Given the description of an element on the screen output the (x, y) to click on. 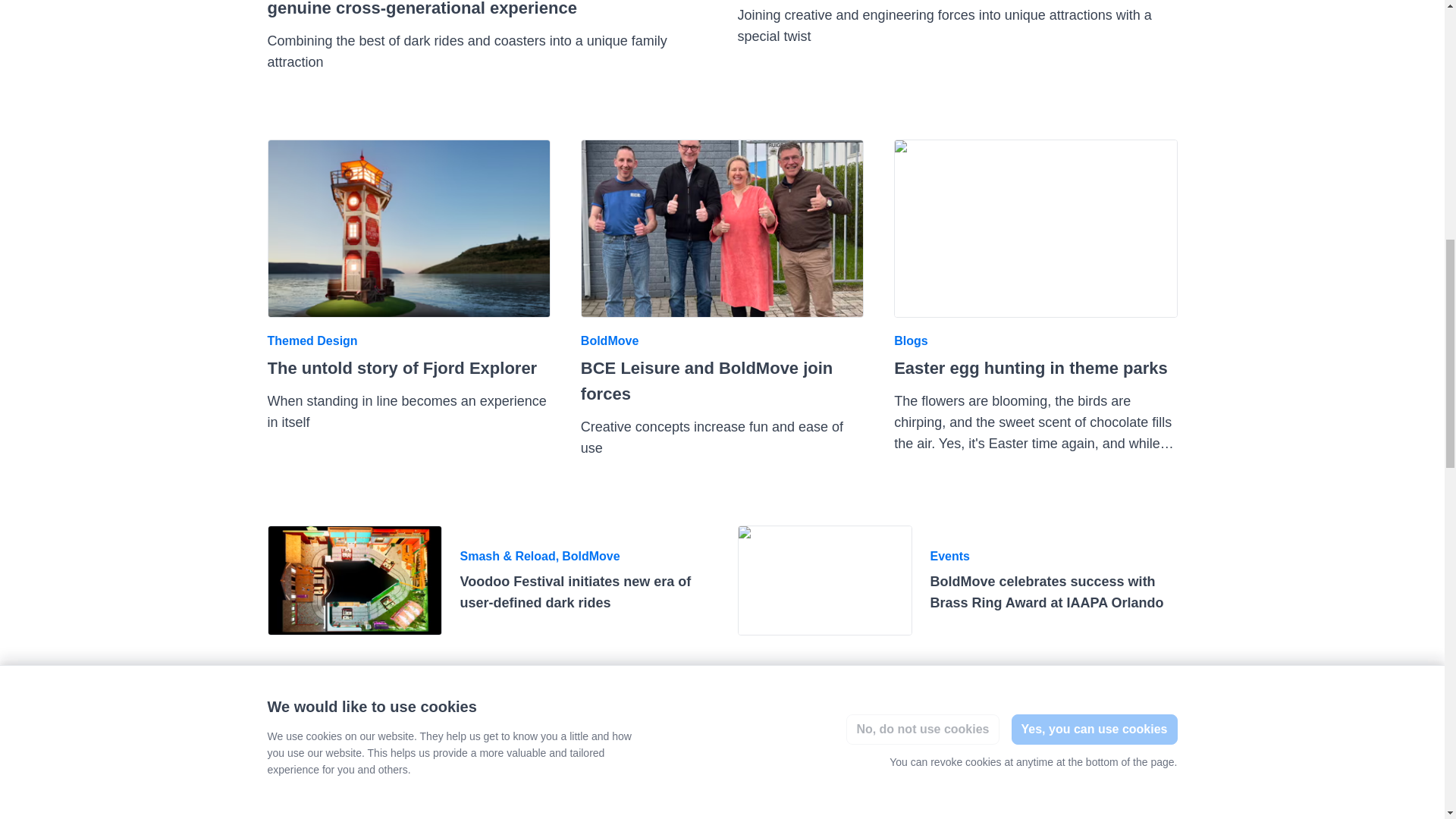
Voodoo Festival initiates new era of user-defined dark rides (353, 580)
Easter egg hunting in theme parks (1030, 367)
Events (479, 680)
Voodoo Festival initiates new era of user-defined dark rides (575, 591)
BCE Leisure and BoldMove join forces (706, 380)
BoldMove (591, 555)
Themed Design (311, 340)
When standing in line becomes an experience in itself (406, 411)
Blogs (910, 340)
Creative concepts increase fun and ease of use (711, 437)
